Given the description of an element on the screen output the (x, y) to click on. 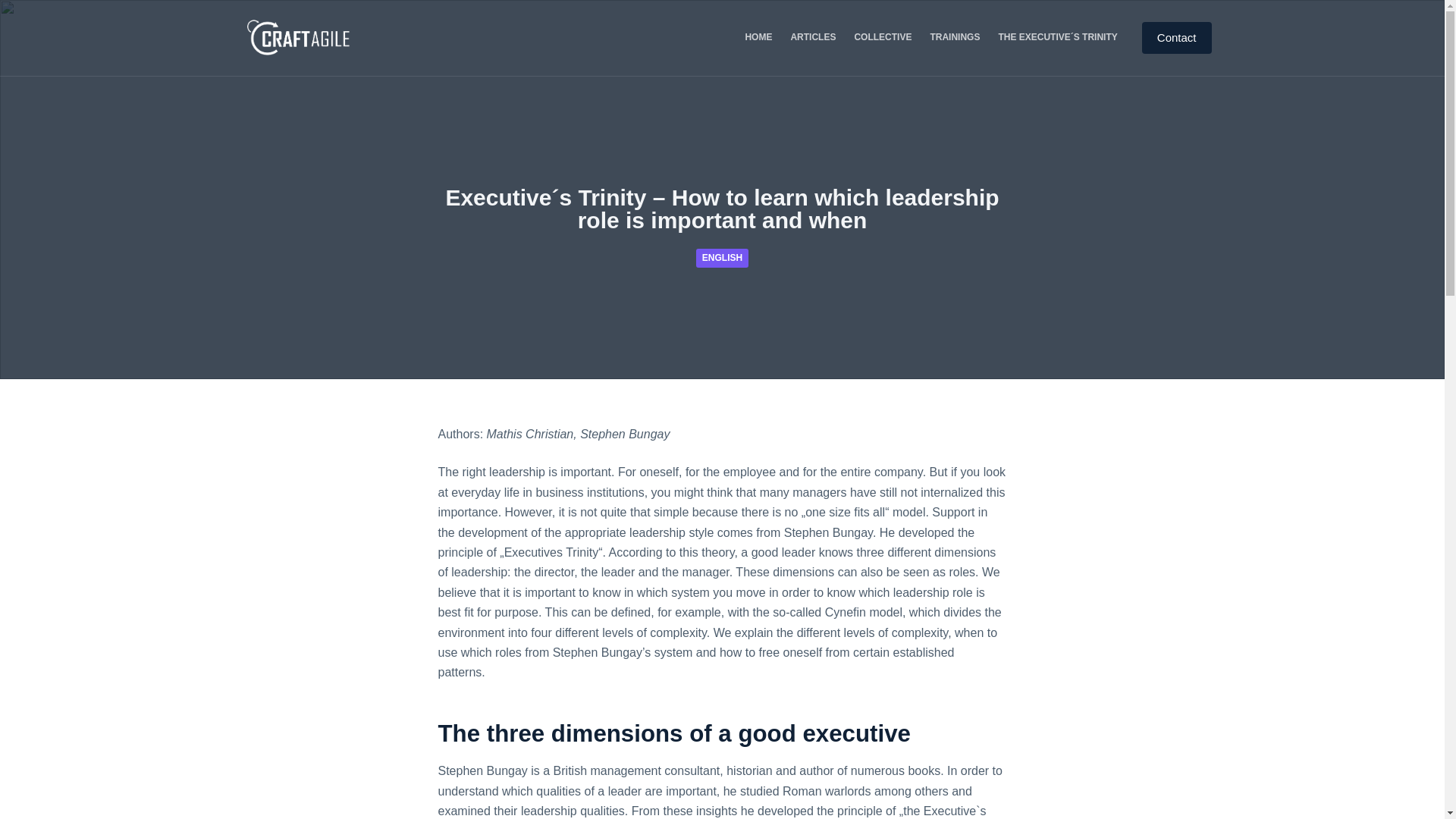
TRAININGS (954, 38)
ENGLISH (721, 257)
Contact (1176, 38)
Zum Inhalt springen (15, 7)
COLLECTIVE (882, 38)
